Given the description of an element on the screen output the (x, y) to click on. 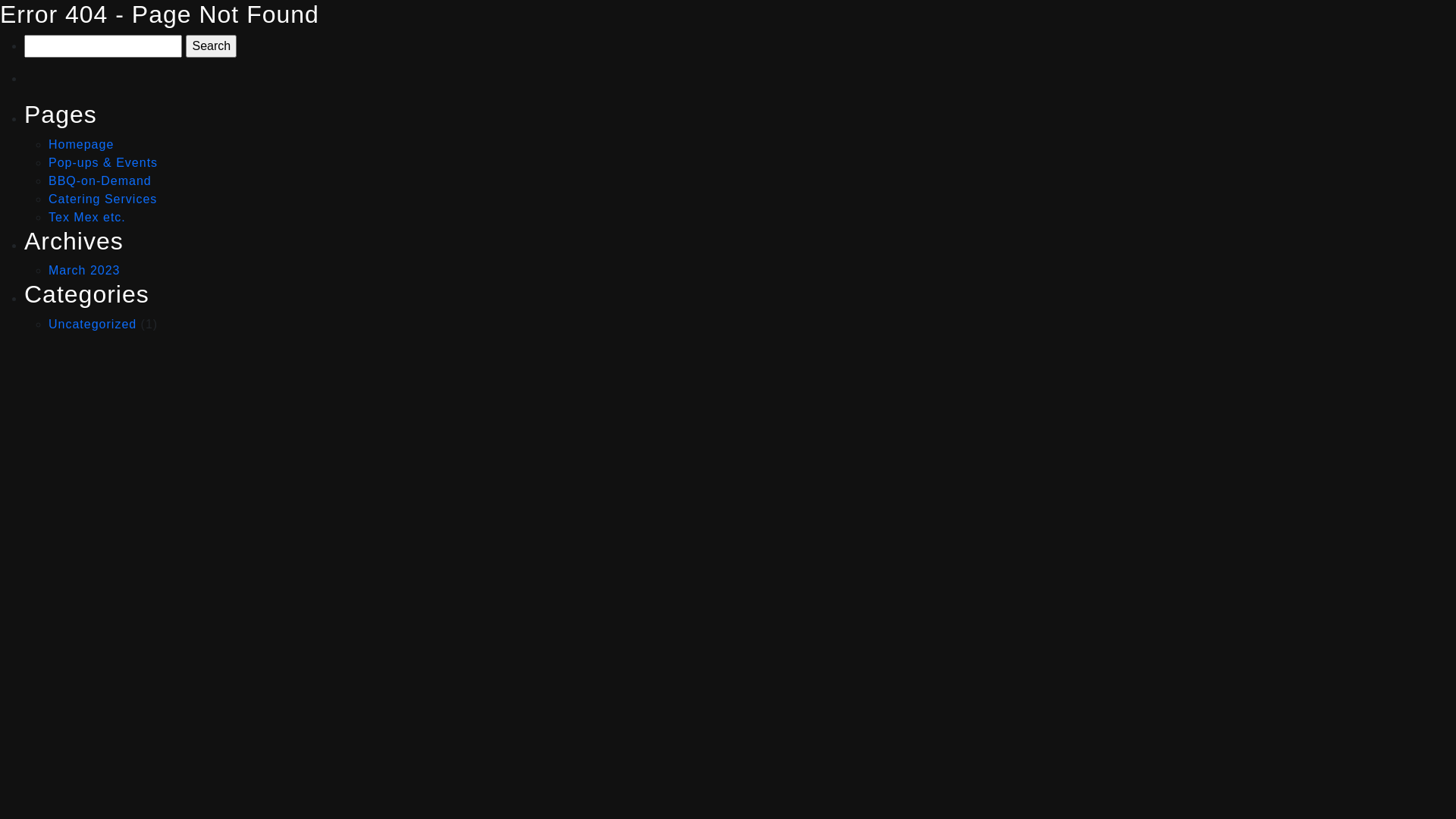
Uncategorized Element type: text (92, 323)
Homepage Element type: text (80, 144)
Catering Services Element type: text (102, 198)
Search Element type: text (210, 45)
BBQ-on-Demand Element type: text (99, 180)
Pop-ups & Events Element type: text (102, 162)
March 2023 Element type: text (84, 269)
Tex Mex etc. Element type: text (86, 216)
